Given the description of an element on the screen output the (x, y) to click on. 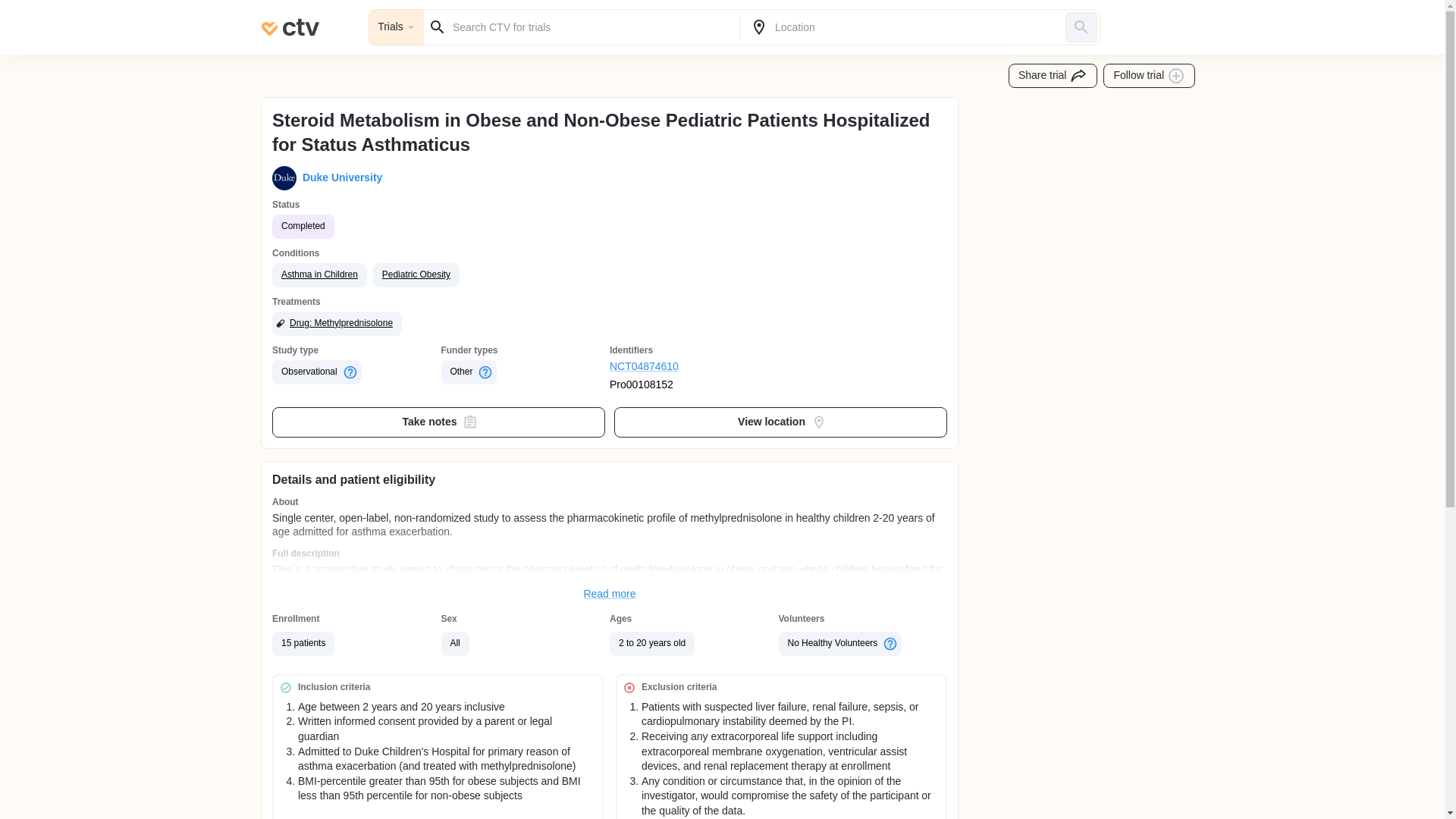
Duke University (339, 178)
View location (780, 422)
Take notes (438, 422)
Read more (609, 594)
Follow trial (1149, 75)
Share trial (1053, 75)
Trials (396, 27)
NCT04874610 (694, 366)
